Given the description of an element on the screen output the (x, y) to click on. 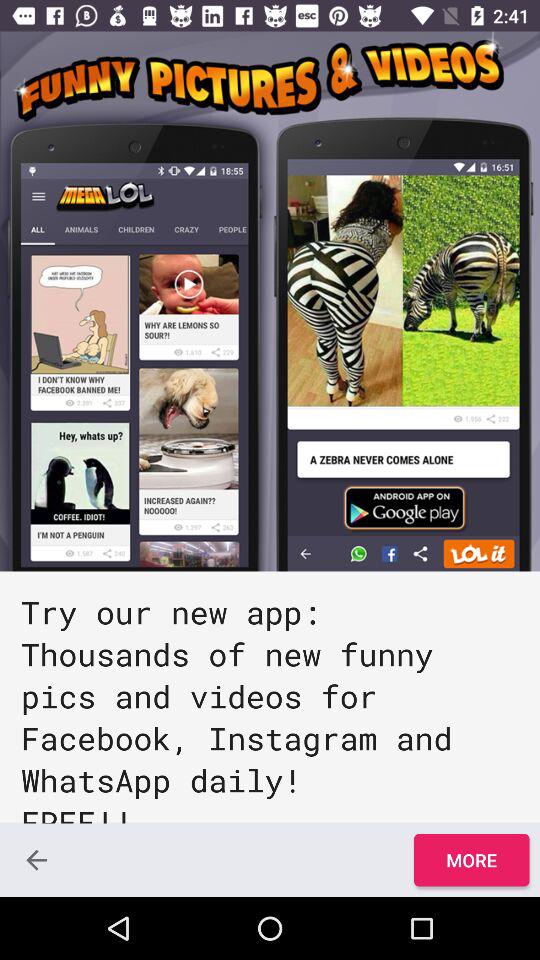
turn off the item next to the more icon (36, 859)
